Given the description of an element on the screen output the (x, y) to click on. 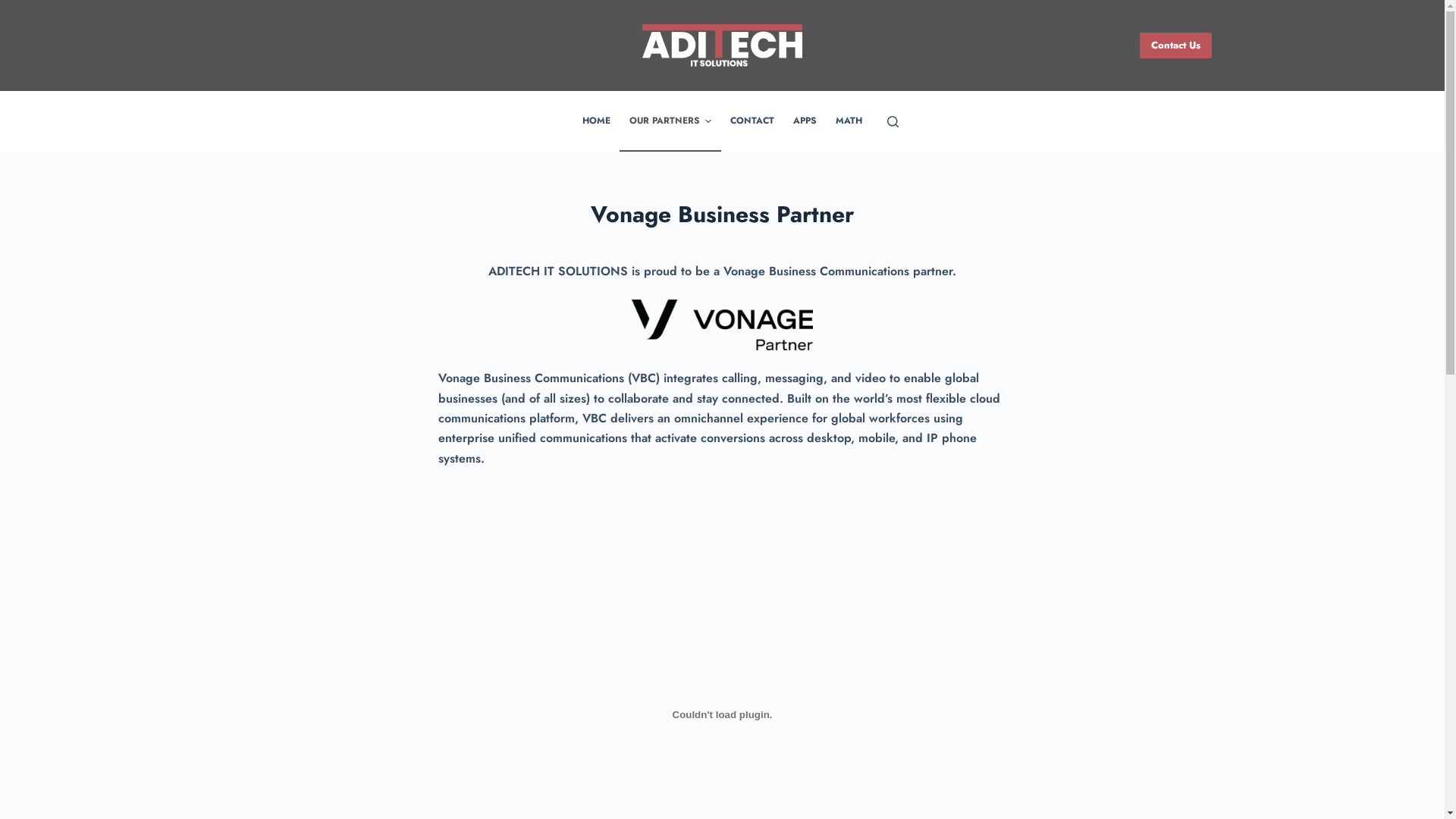
Skip to content Element type: text (15, 7)
CONTACT Element type: text (752, 121)
OUR PARTNERS Element type: text (669, 121)
HOME Element type: text (595, 121)
MATH Element type: text (849, 121)
Contact Us Element type: text (1175, 45)
APPS Element type: text (805, 121)
